Given the description of an element on the screen output the (x, y) to click on. 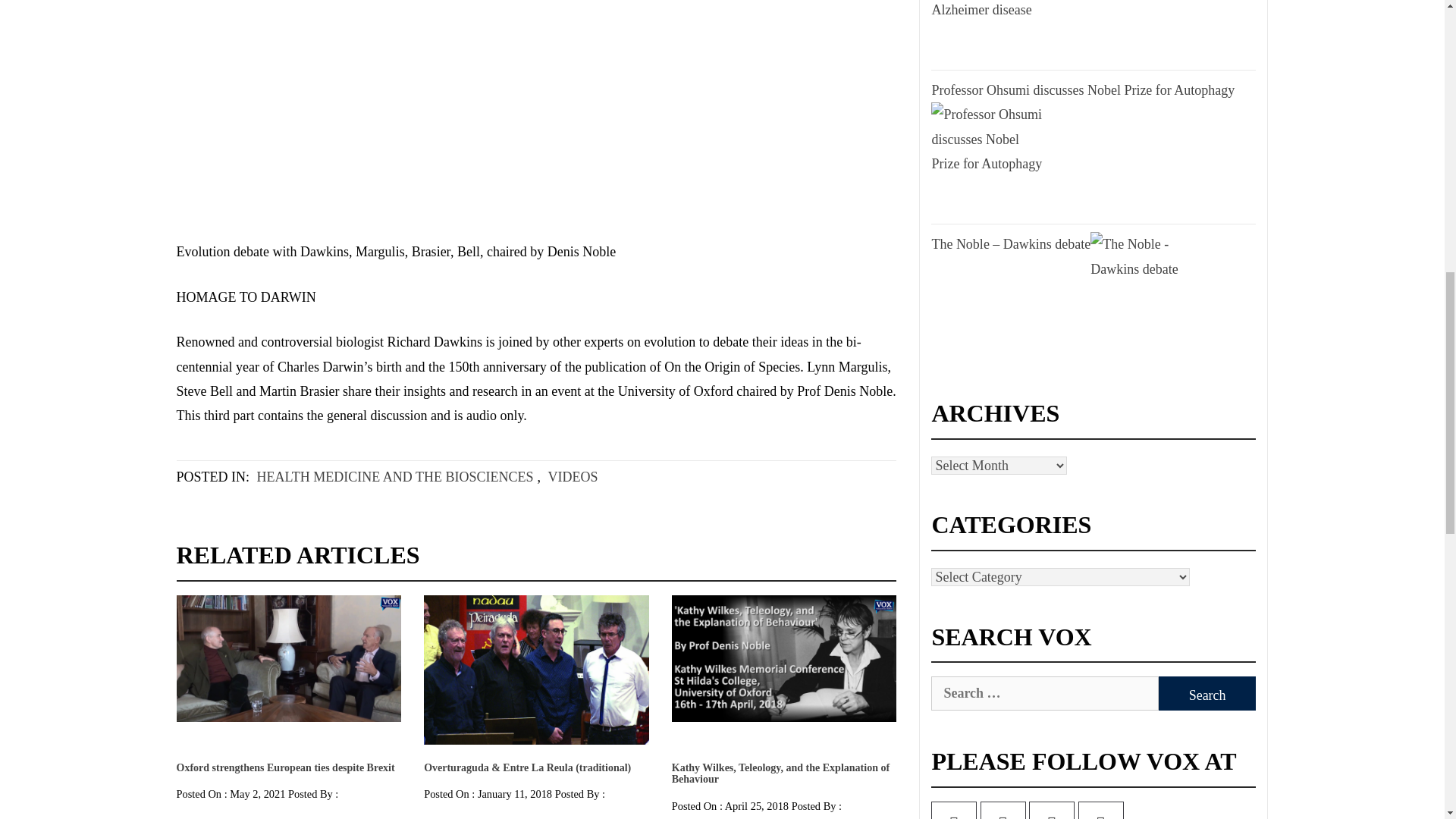
Restoring function in Alzheimer disease (986, 31)
Search (1206, 693)
HEALTH MEDICINE AND THE BIOSCIENCES (395, 476)
Professor Ohsumi discusses Nobel Prize for Autophagy (986, 159)
The Noble - Dawkins debate (1145, 288)
Search (1206, 693)
